Given the description of an element on the screen output the (x, y) to click on. 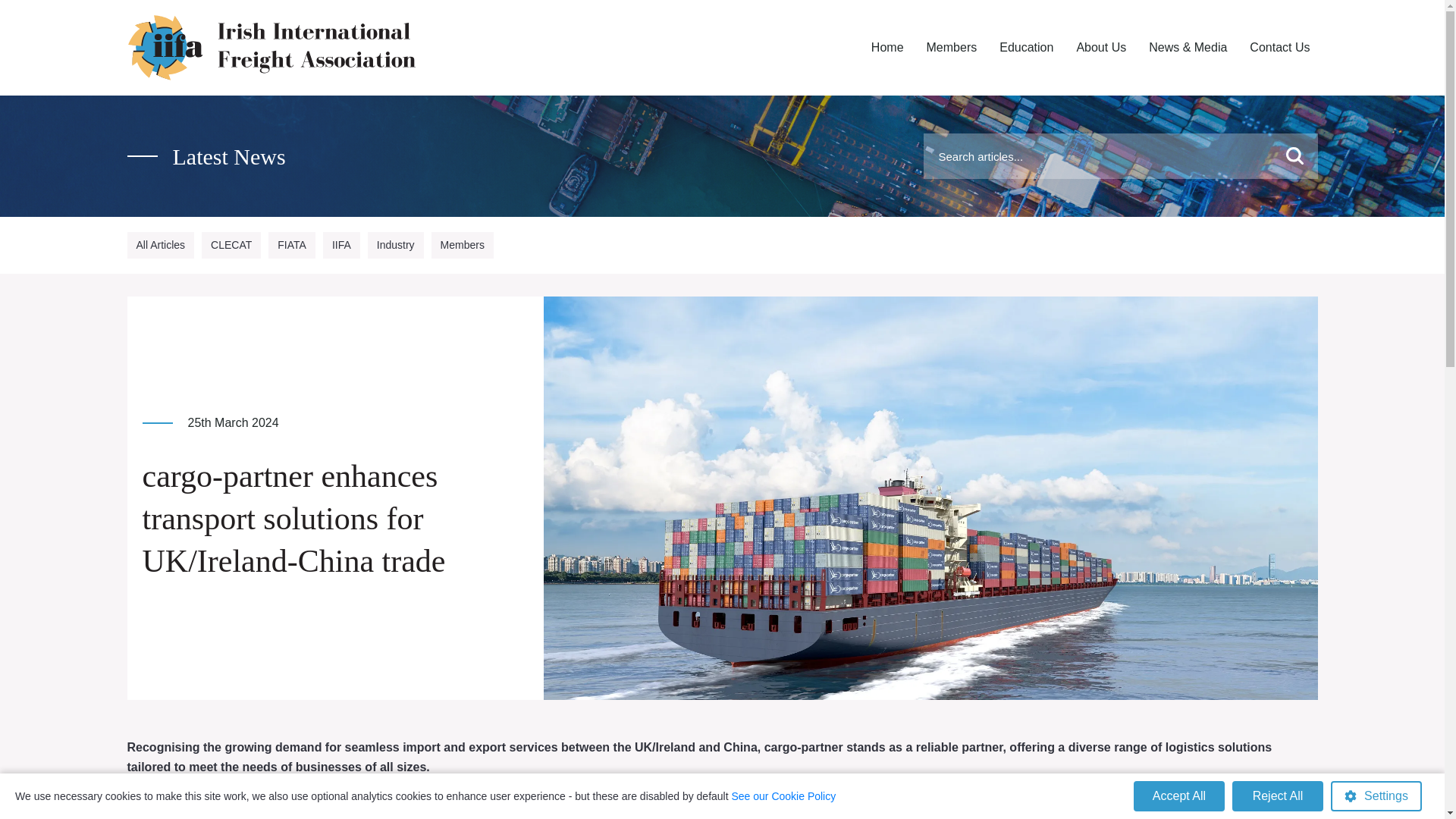
Members (951, 47)
Contact Us (1279, 47)
Members (951, 47)
Education (1026, 47)
Home (887, 47)
About Us (1101, 47)
Home Page (887, 47)
